Given the description of an element on the screen output the (x, y) to click on. 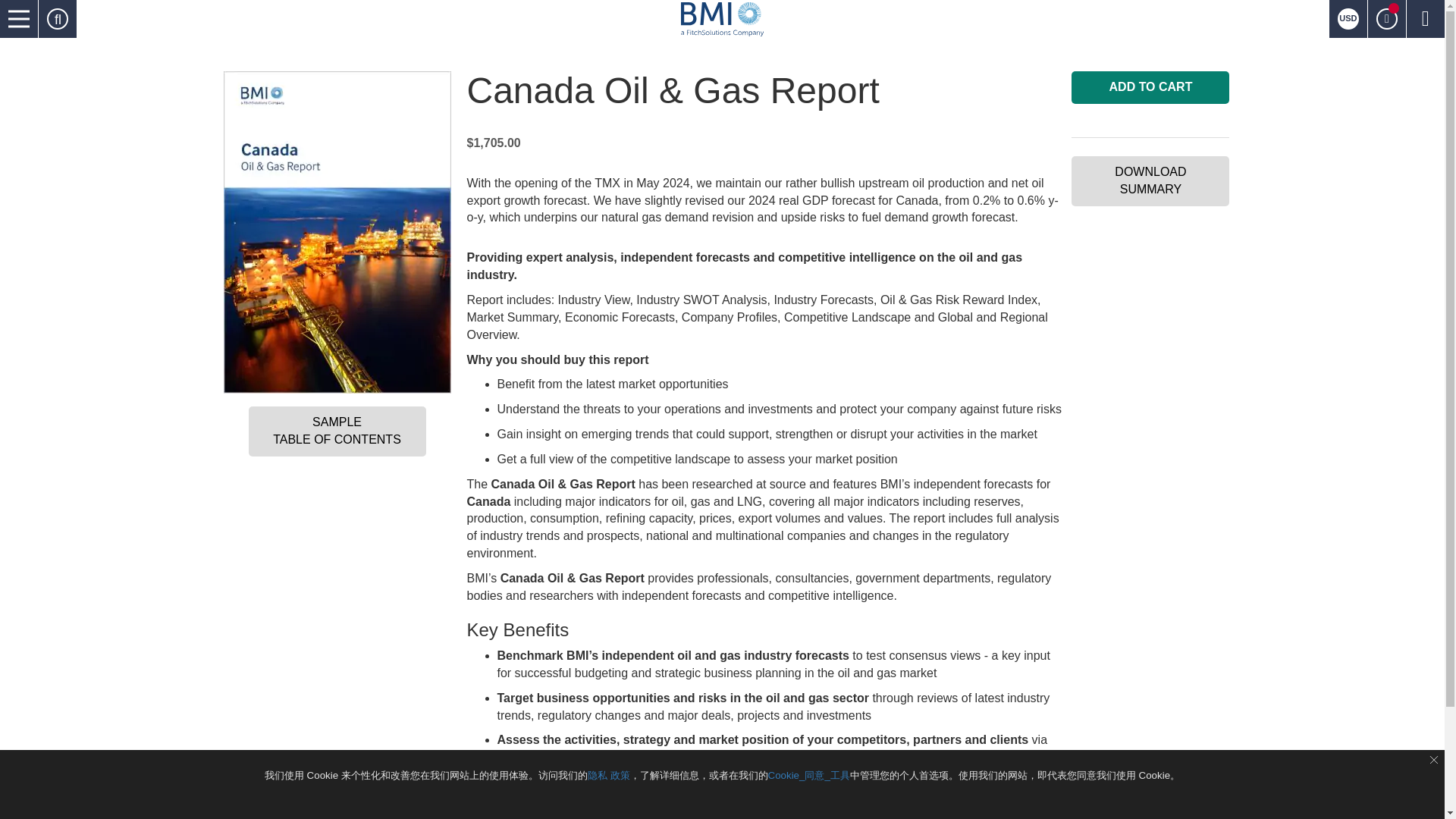
Add to Cart (1149, 87)
